Given the description of an element on the screen output the (x, y) to click on. 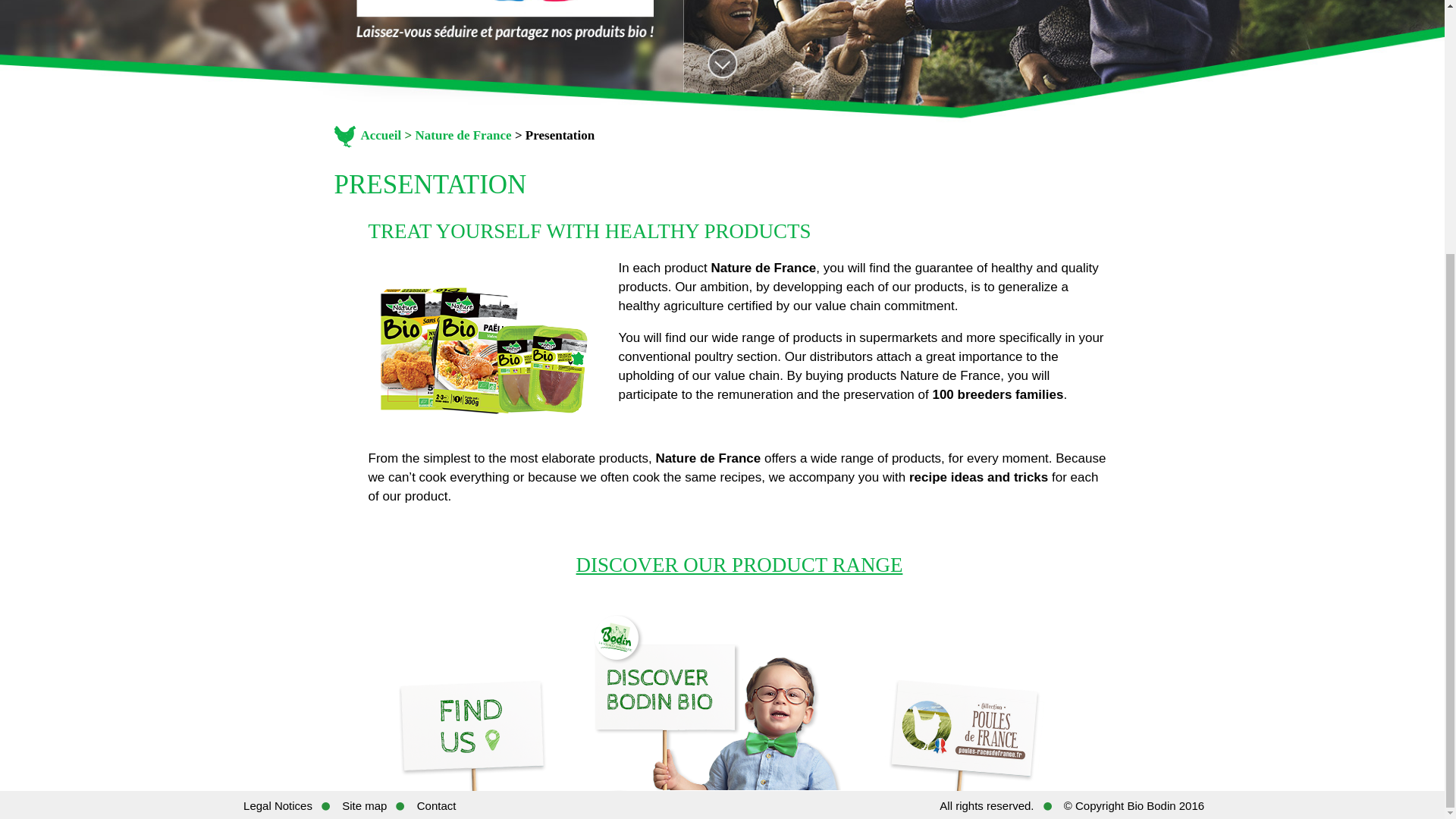
Go to Nature de France. (463, 134)
Accueil (367, 134)
Nature de France (463, 134)
Go to Bodin Bio. (367, 134)
